Given the description of an element on the screen output the (x, y) to click on. 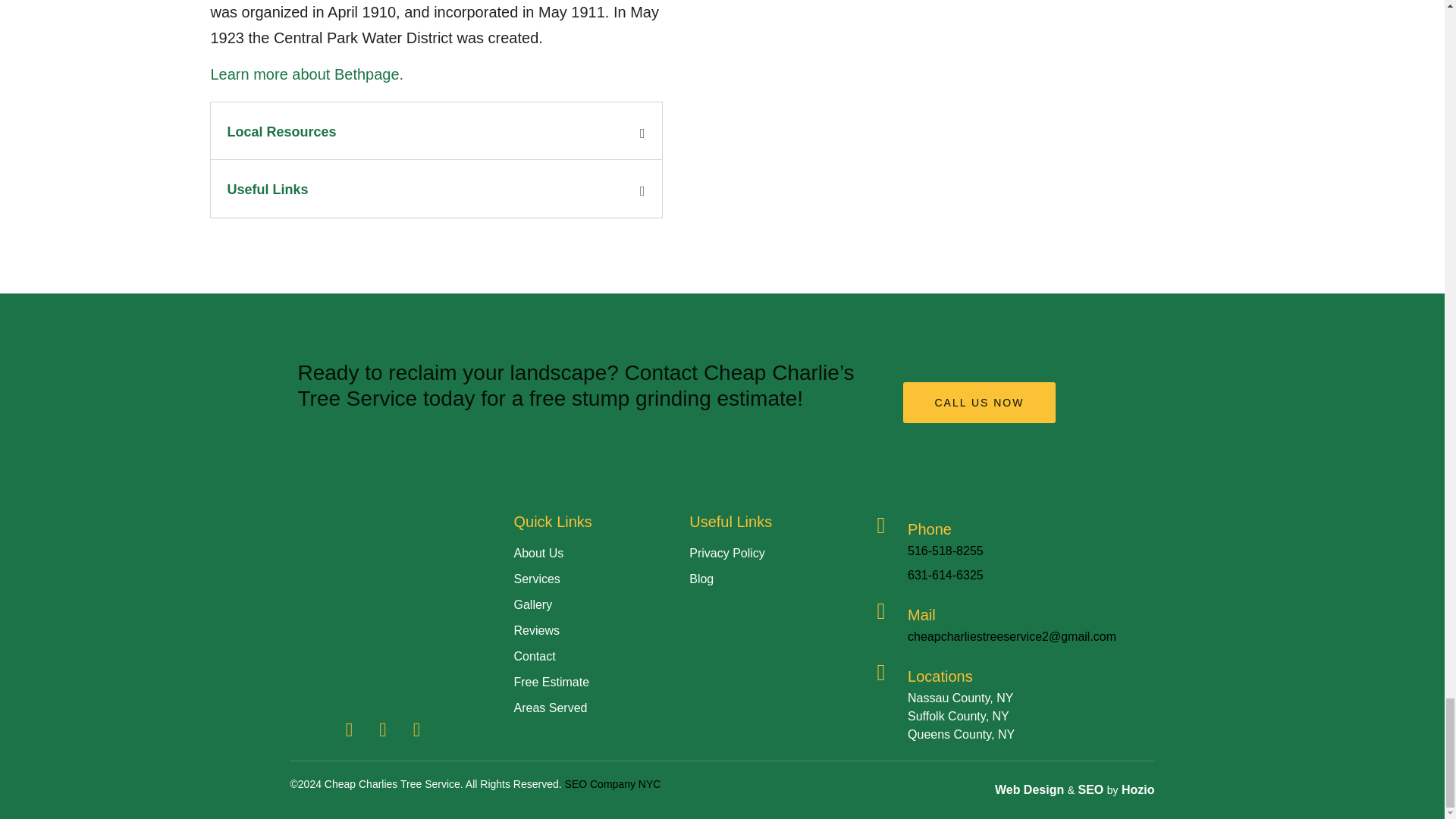
Learn more about Bethpage. (307, 74)
Local Resources (281, 131)
